Given the description of an element on the screen output the (x, y) to click on. 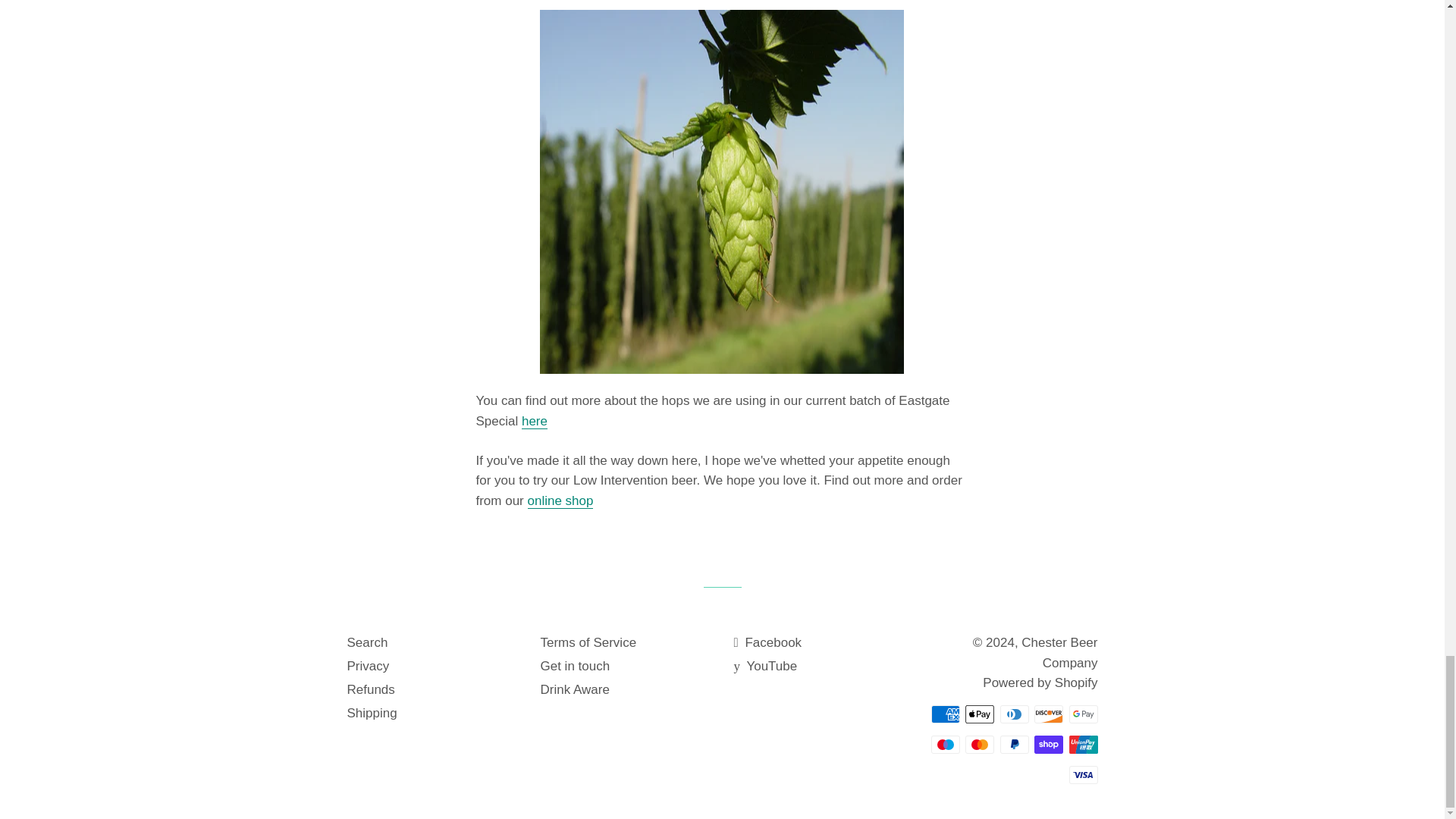
PayPal (1012, 744)
Mastercard (979, 744)
Apple Pay (979, 714)
Shop Pay (1047, 744)
Discover (1047, 714)
Google Pay (1082, 714)
Chester Beer Company on Facebook (767, 642)
Diners Club (1012, 714)
here (534, 421)
Union Pay (1082, 744)
